Given the description of an element on the screen output the (x, y) to click on. 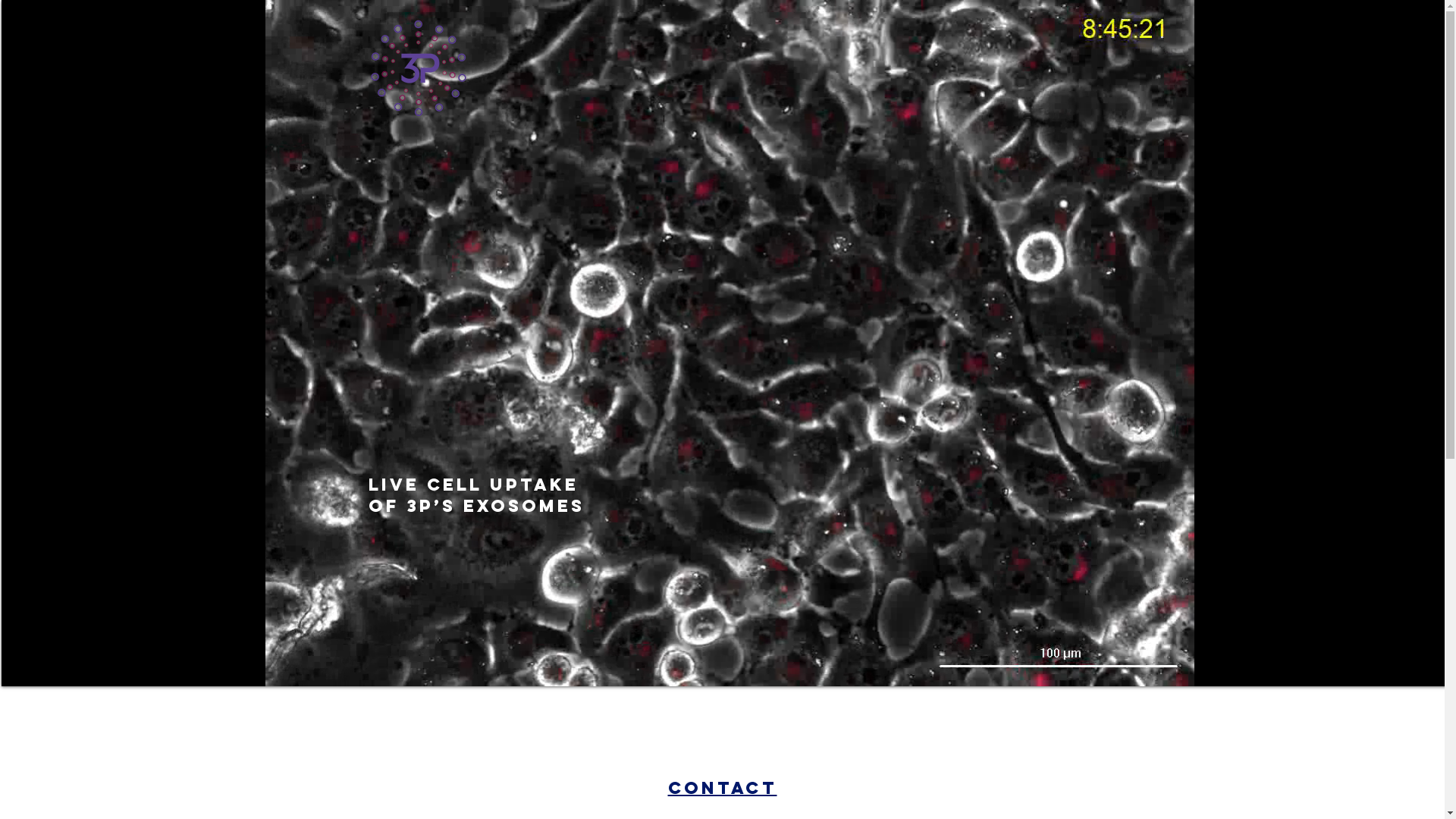
Contact Element type: text (721, 787)
